Given the description of an element on the screen output the (x, y) to click on. 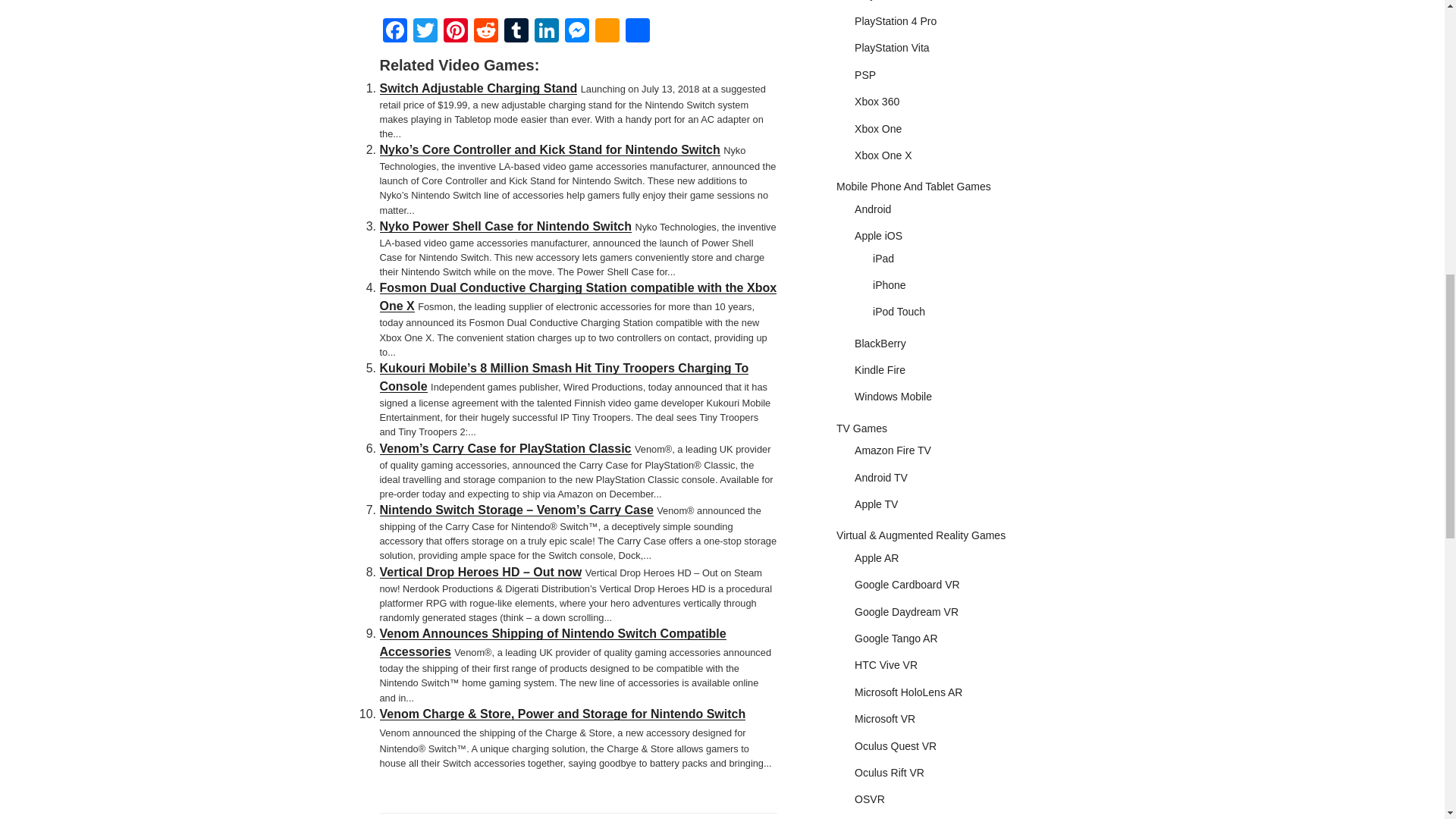
Reddit (485, 30)
Pinterest (454, 30)
Tumblr (515, 30)
Amazon Wish List (606, 30)
Twitter (424, 30)
Switch Adjustable Charging Stand (477, 88)
LinkedIn (545, 30)
Messenger (575, 30)
Facebook (393, 30)
